Given the description of an element on the screen output the (x, y) to click on. 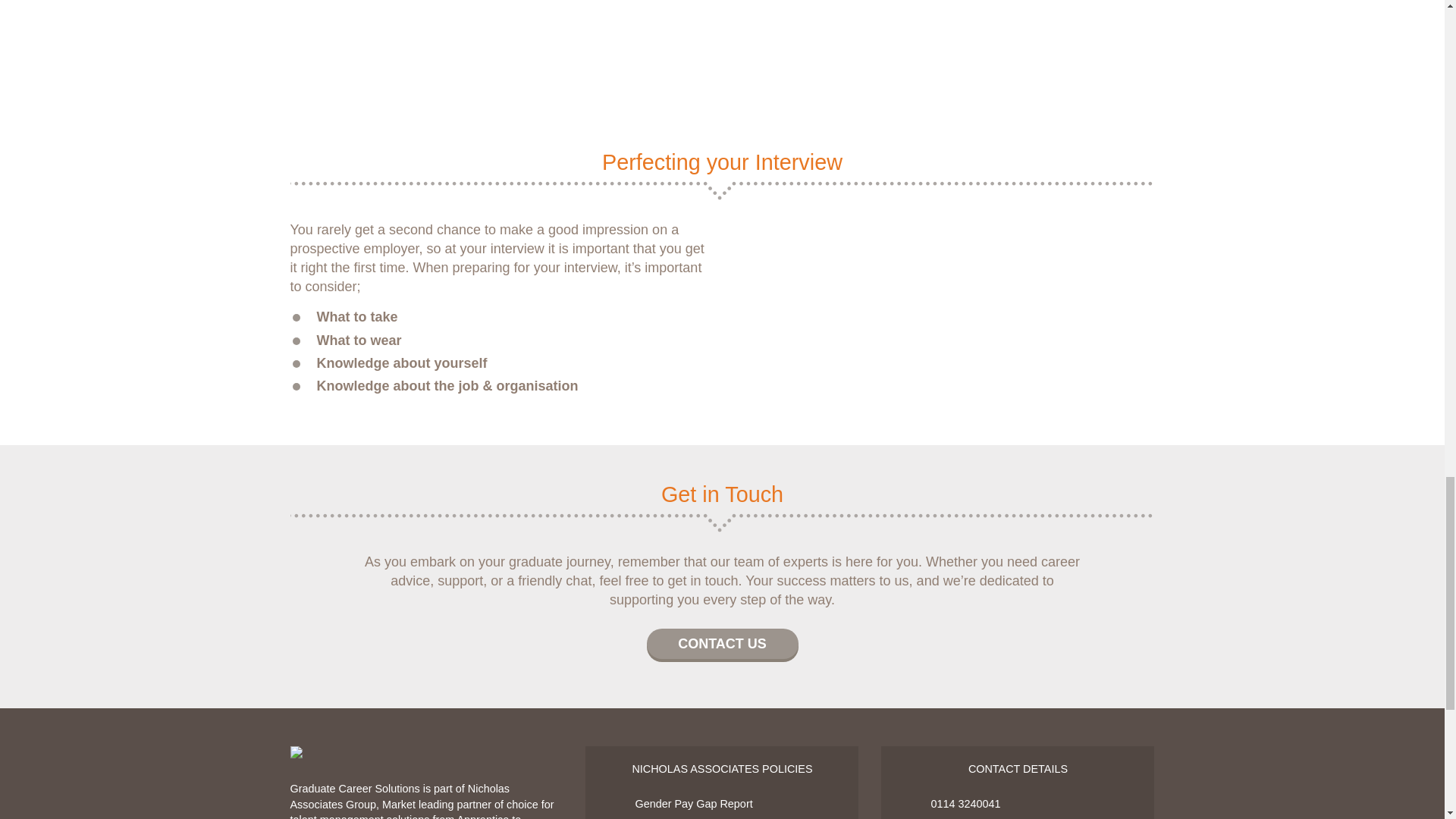
0114 3240041 (1017, 803)
Phone us on 0114 3240041 (1017, 803)
Gender Pay Gap Report (721, 803)
CONTACT US (721, 643)
